Given the description of an element on the screen output the (x, y) to click on. 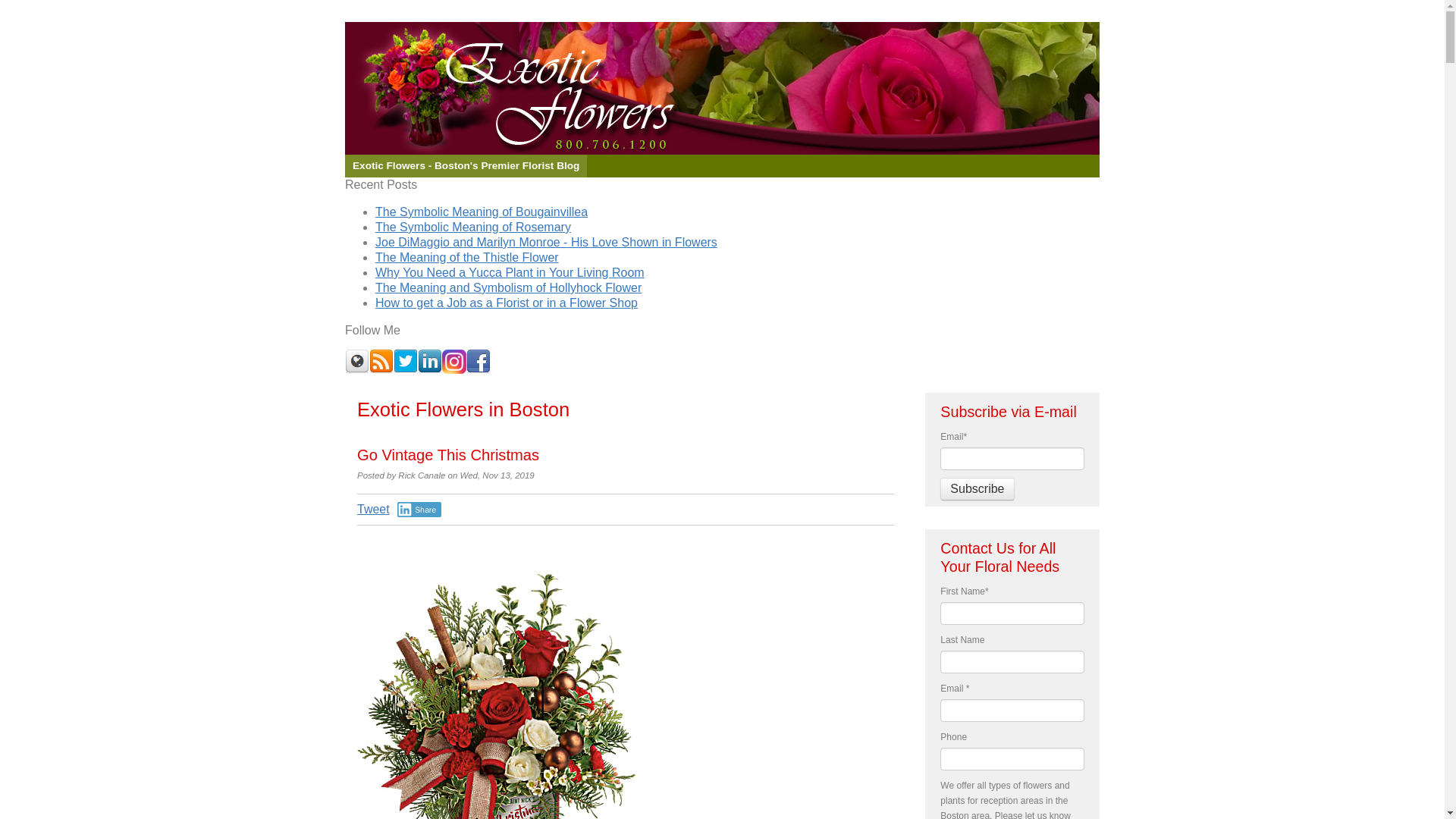
How to get a Job as a Florist or in a Flower Shop (506, 302)
Follow us on Instagram (453, 361)
Follow us on RSS (381, 361)
The Symbolic Meaning of Bougainvillea (481, 211)
Why You Need a Yucca Plant in Your Living Room (510, 272)
Follow us on Facebook (477, 361)
Tweet (373, 508)
The Meaning and Symbolism of Hollyhock Flower (508, 287)
Follow us on Linkedin (429, 361)
Go Vintage This Christmas (447, 454)
Subscribe (976, 488)
The Symbolic Meaning of Rosemary (472, 226)
Share (419, 509)
Follow us on Twitter (405, 361)
 Exotic Flowers (722, 88)
